Given the description of an element on the screen output the (x, y) to click on. 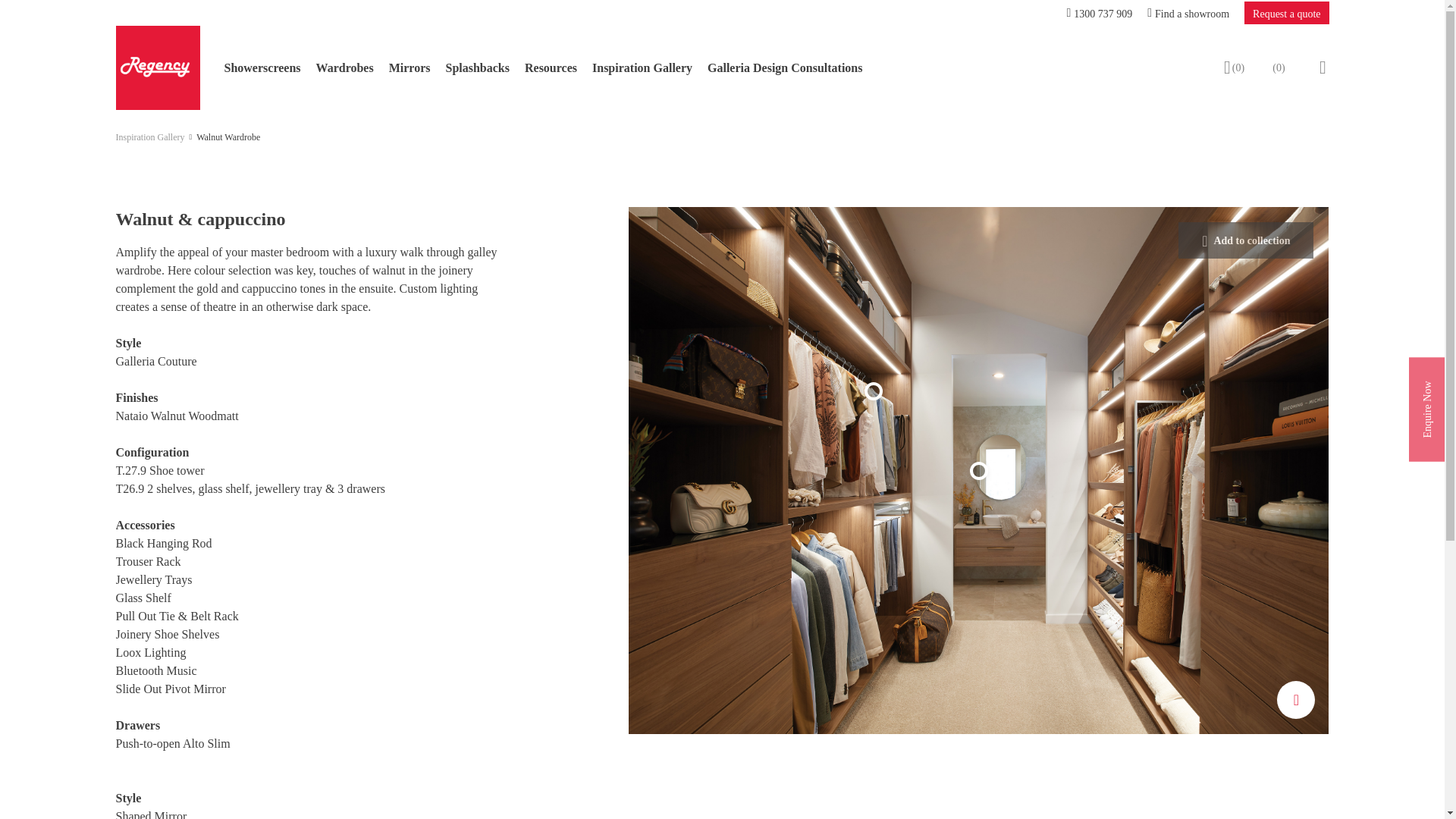
Wardrobes (344, 67)
Splashbacks (477, 67)
1300 737 909 (1098, 12)
Find a showroom (1187, 12)
Mirrors (409, 67)
Request a quote (1285, 12)
Showerscreens (262, 67)
